Given the description of an element on the screen output the (x, y) to click on. 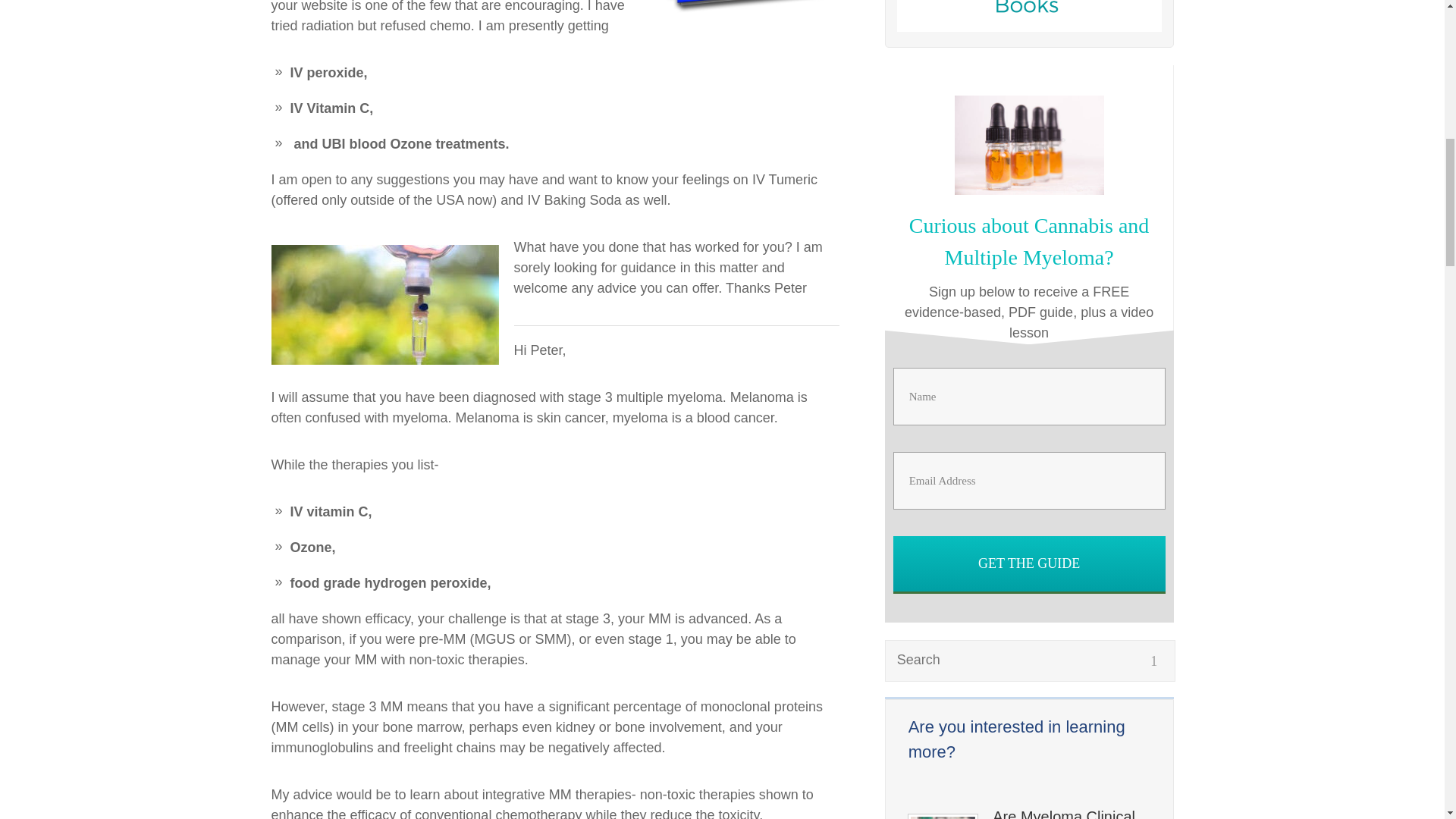
GET THE GUIDE (1029, 563)
MM Integrative (744, 15)
Are Myeloma Clinical Trials Too Good To Be True? (1071, 812)
cbd-oil- (1029, 144)
